Given the description of an element on the screen output the (x, y) to click on. 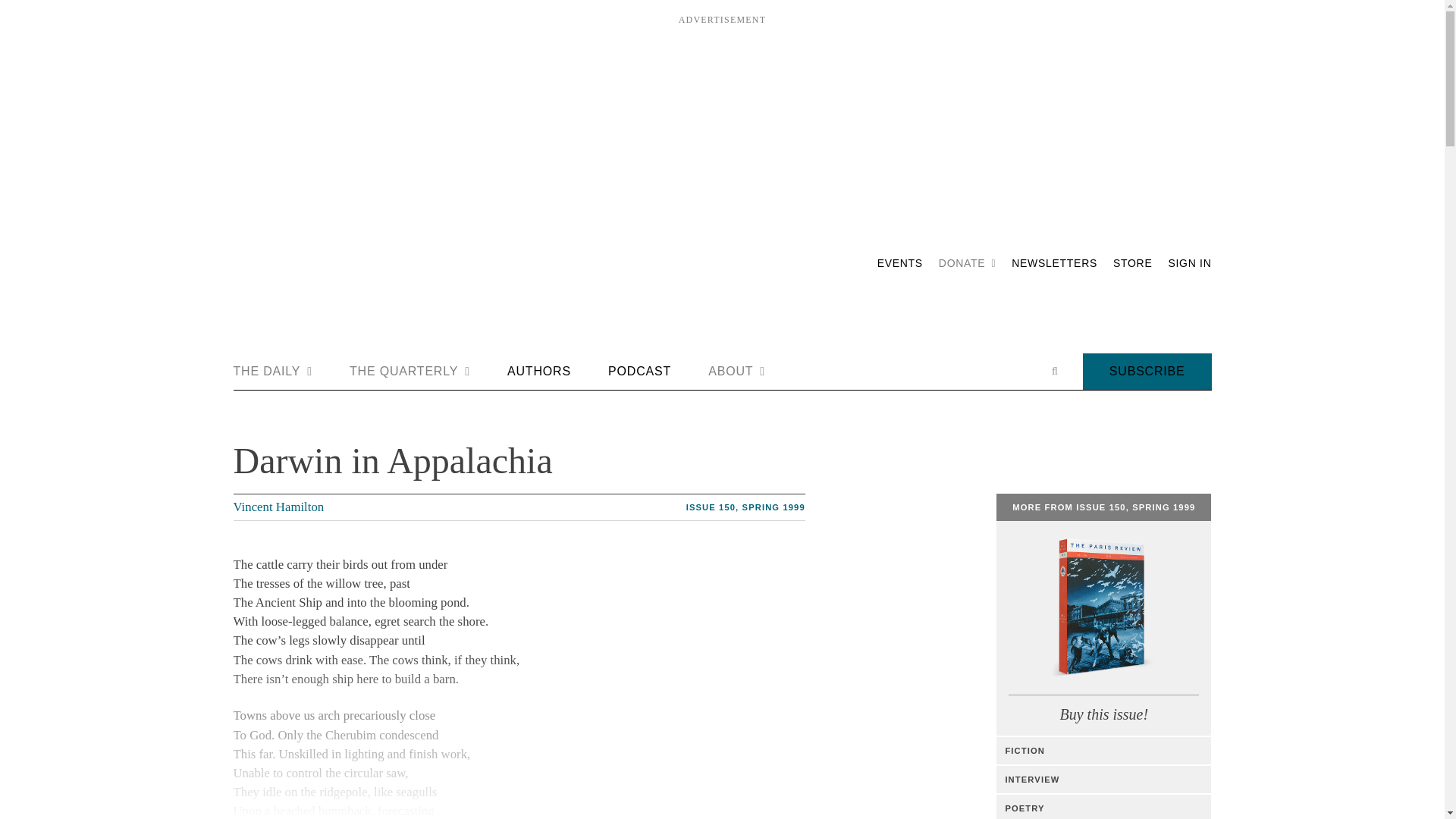
Open search (1054, 371)
THE DAILY (272, 371)
THE QUARTERLY (409, 371)
